Given the description of an element on the screen output the (x, y) to click on. 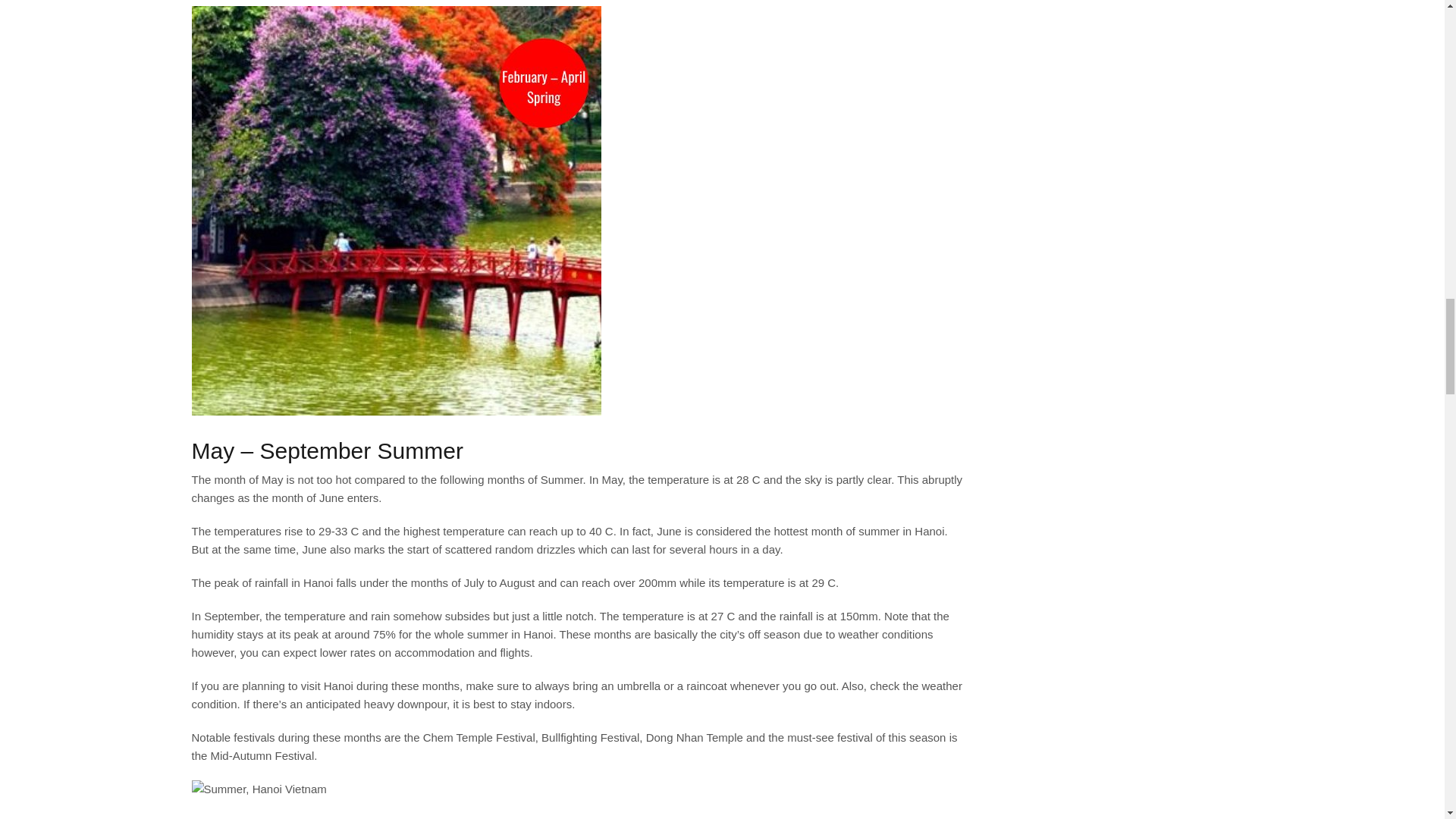
Summer, Hanoi Vietnam (258, 789)
